Given the description of an element on the screen output the (x, y) to click on. 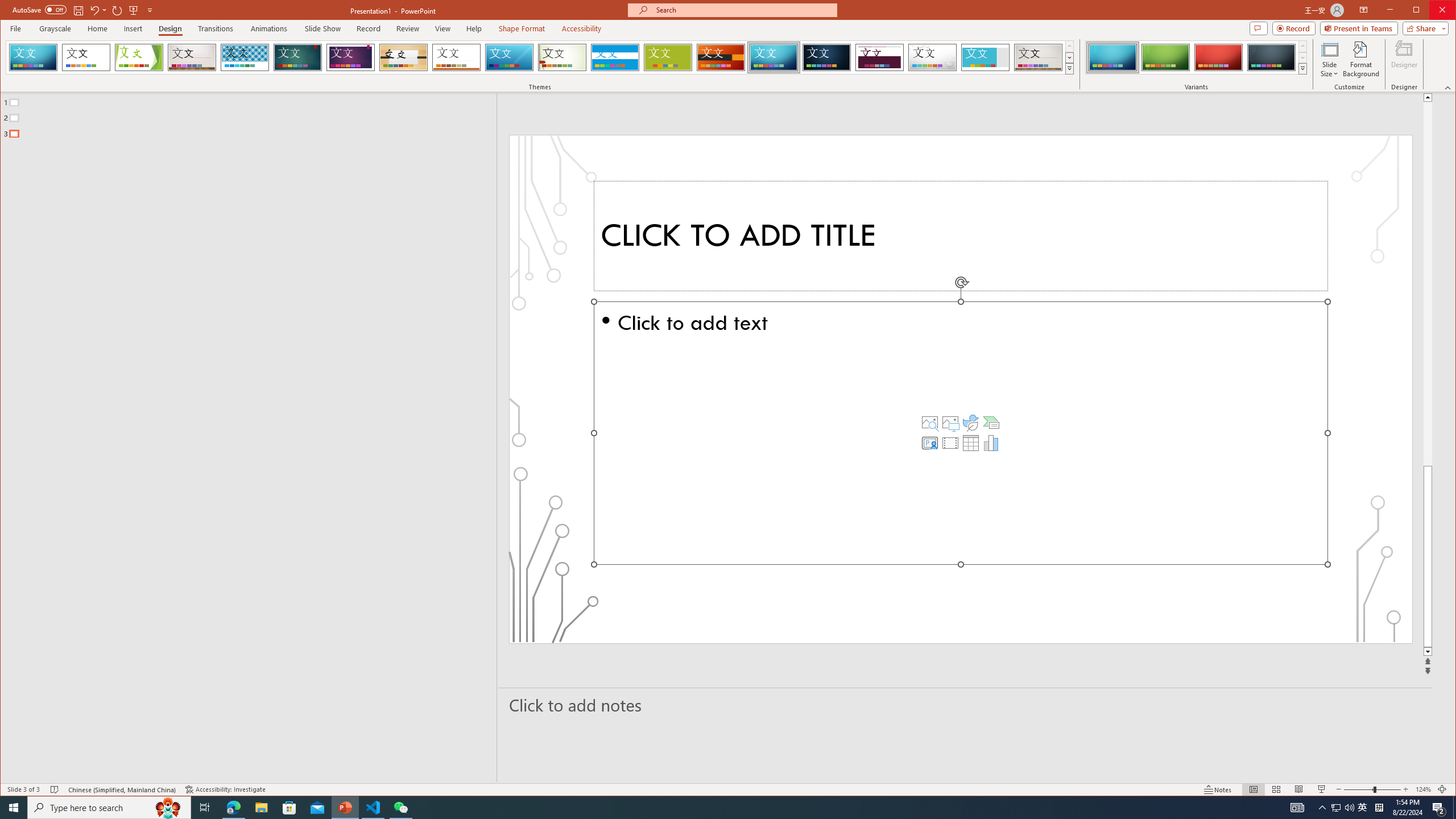
Basis (668, 57)
Content Placeholder (960, 433)
System (10, 10)
Banded (615, 57)
Microsoft Store (289, 807)
Zoom Out (1358, 789)
Title TextBox (960, 235)
Tray Input Indicator - Chinese (Simplified, China) (1378, 807)
Help (473, 28)
Designer (1404, 59)
Variants (1302, 68)
Quick Access Toolbar (83, 9)
Circuit Variant 1 (1112, 57)
Facet (138, 57)
Berlin (720, 57)
